Given the description of an element on the screen output the (x, y) to click on. 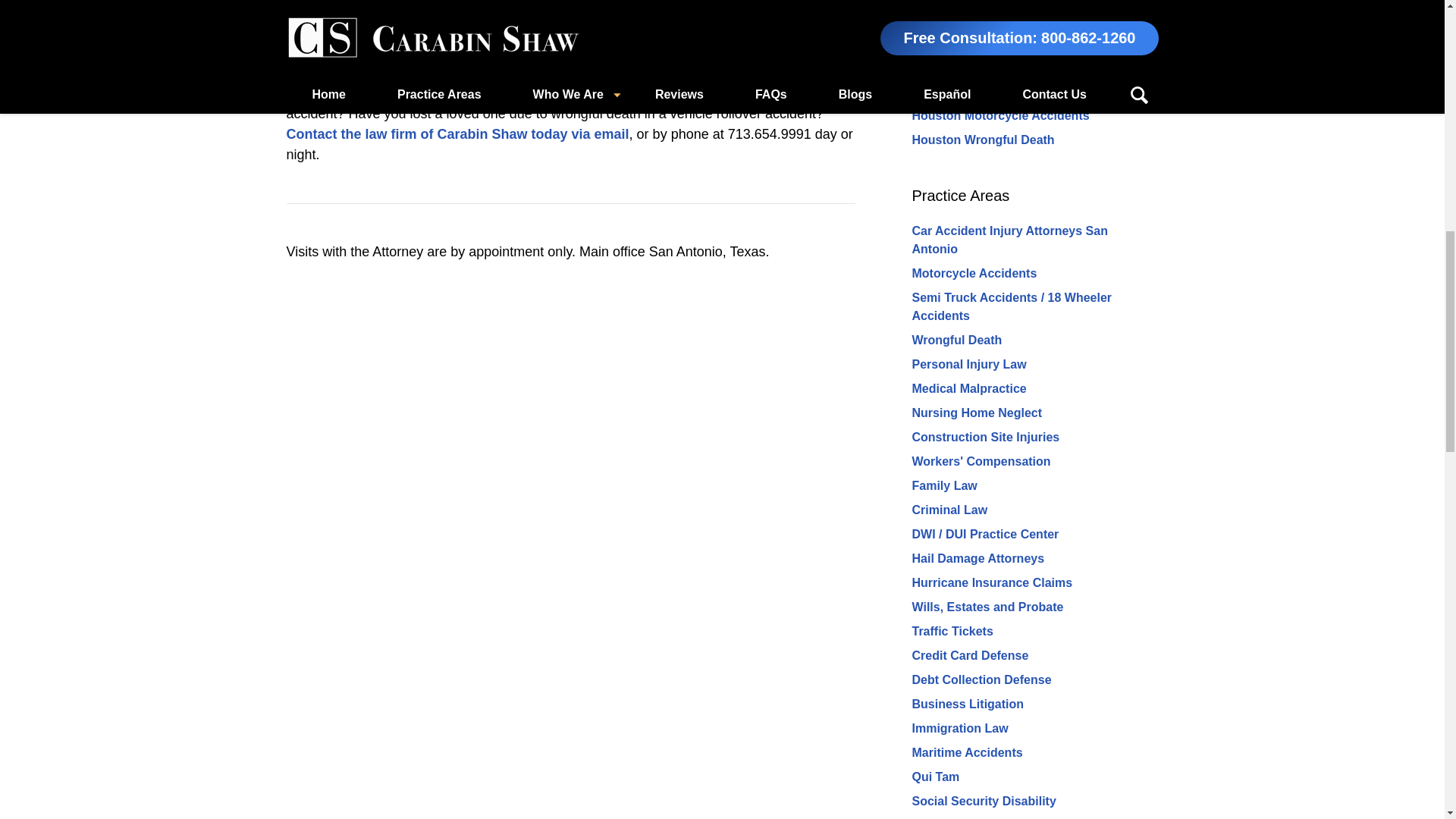
Contact the law firm of Carabin Shaw today via email (457, 133)
Houston Practice Areas (990, 31)
Houston Auto Accidents (981, 91)
Houston Motorcycle Accidents (1000, 115)
Houston Wrongful Death (982, 139)
Houston 18 Wheeler Accidents (1000, 66)
